Given the description of an element on the screen output the (x, y) to click on. 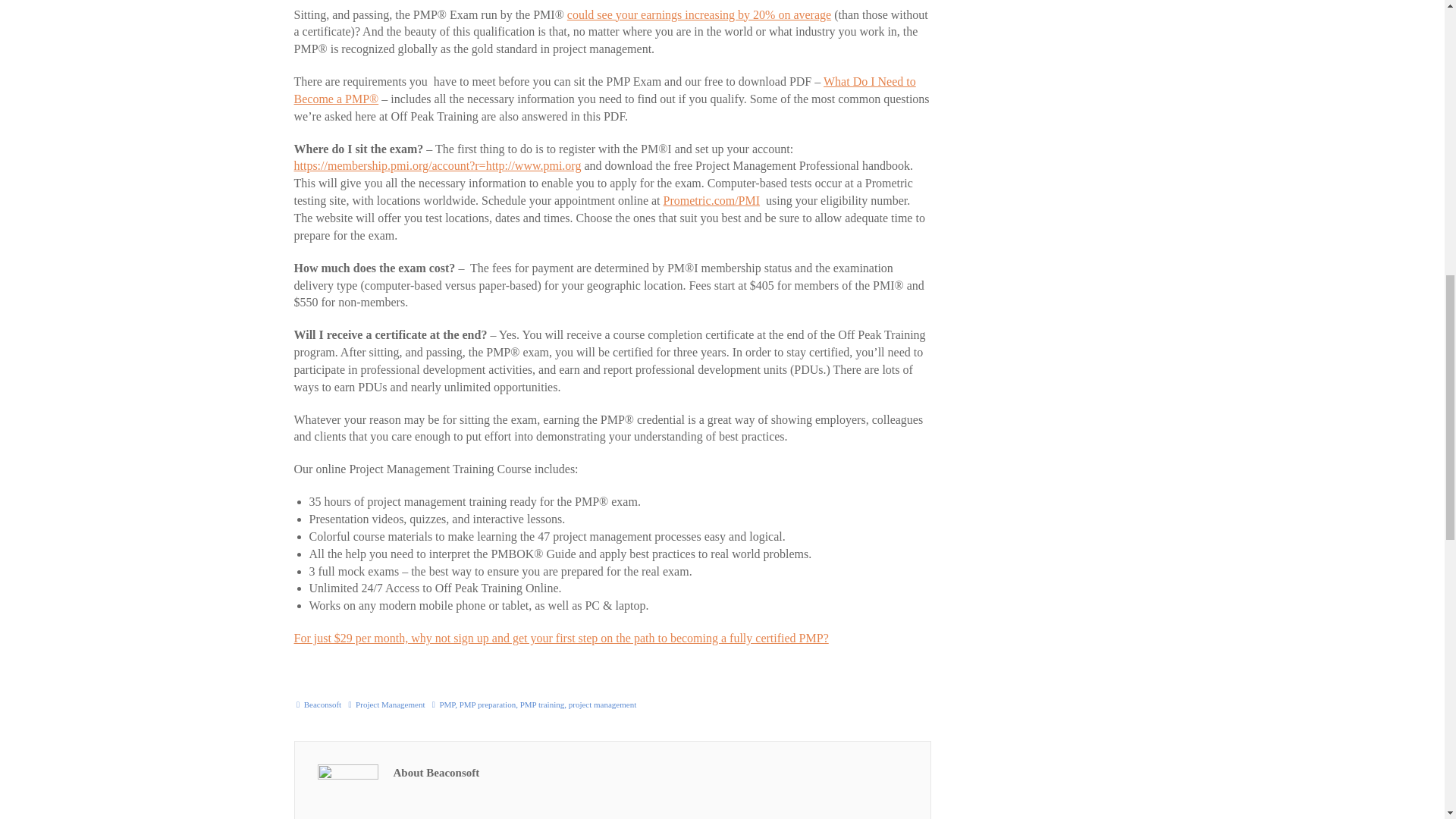
Beaconsoft (322, 704)
Posts by Beaconsoft (322, 704)
